Given the description of an element on the screen output the (x, y) to click on. 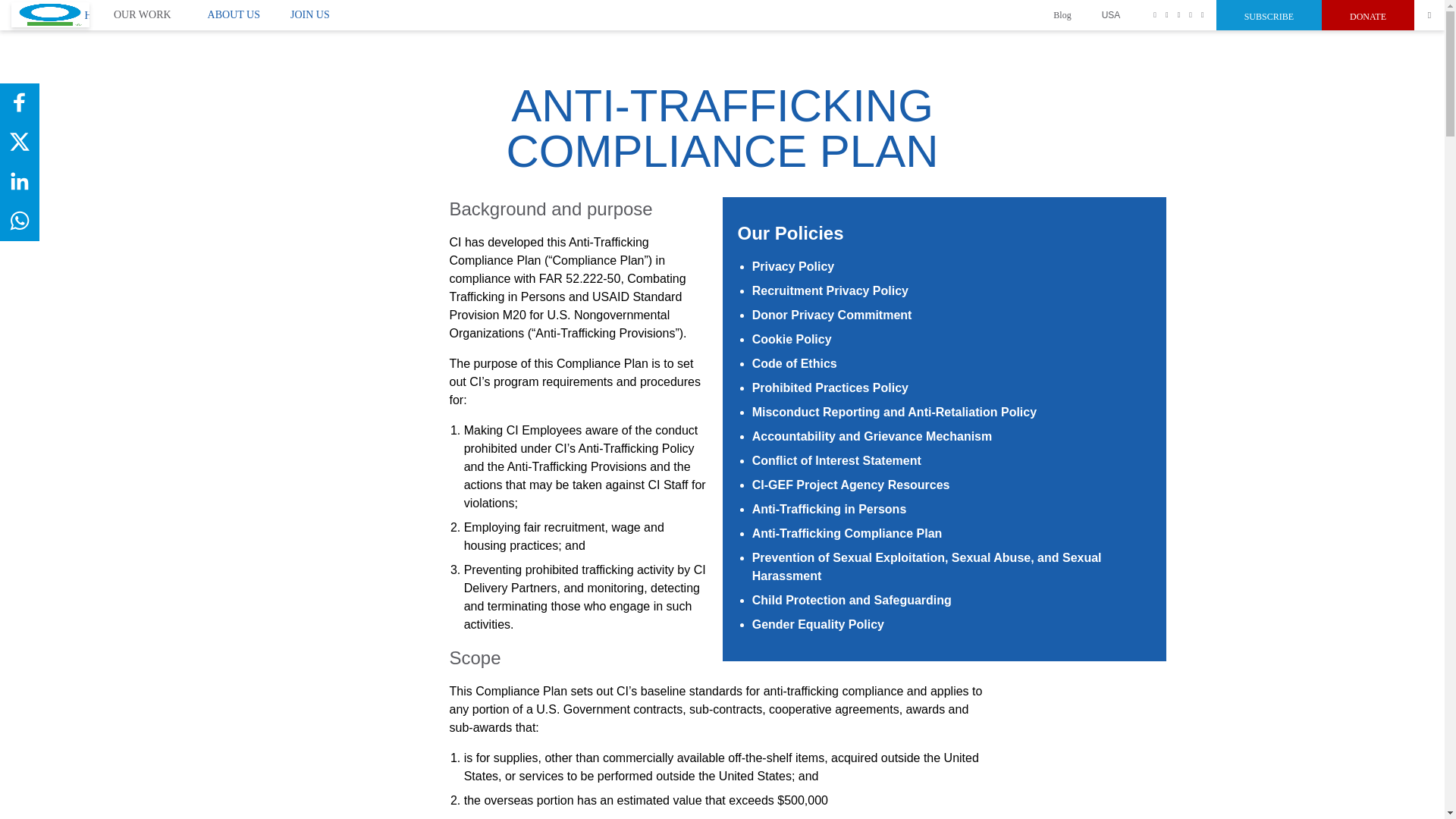
Share with WhatsApp (19, 220)
Share with LinkedIn (19, 180)
HOME (49, 14)
Share with Facebook (19, 102)
Blog (1061, 14)
JOIN US (309, 14)
ABOUT US (234, 14)
